Given the description of an element on the screen output the (x, y) to click on. 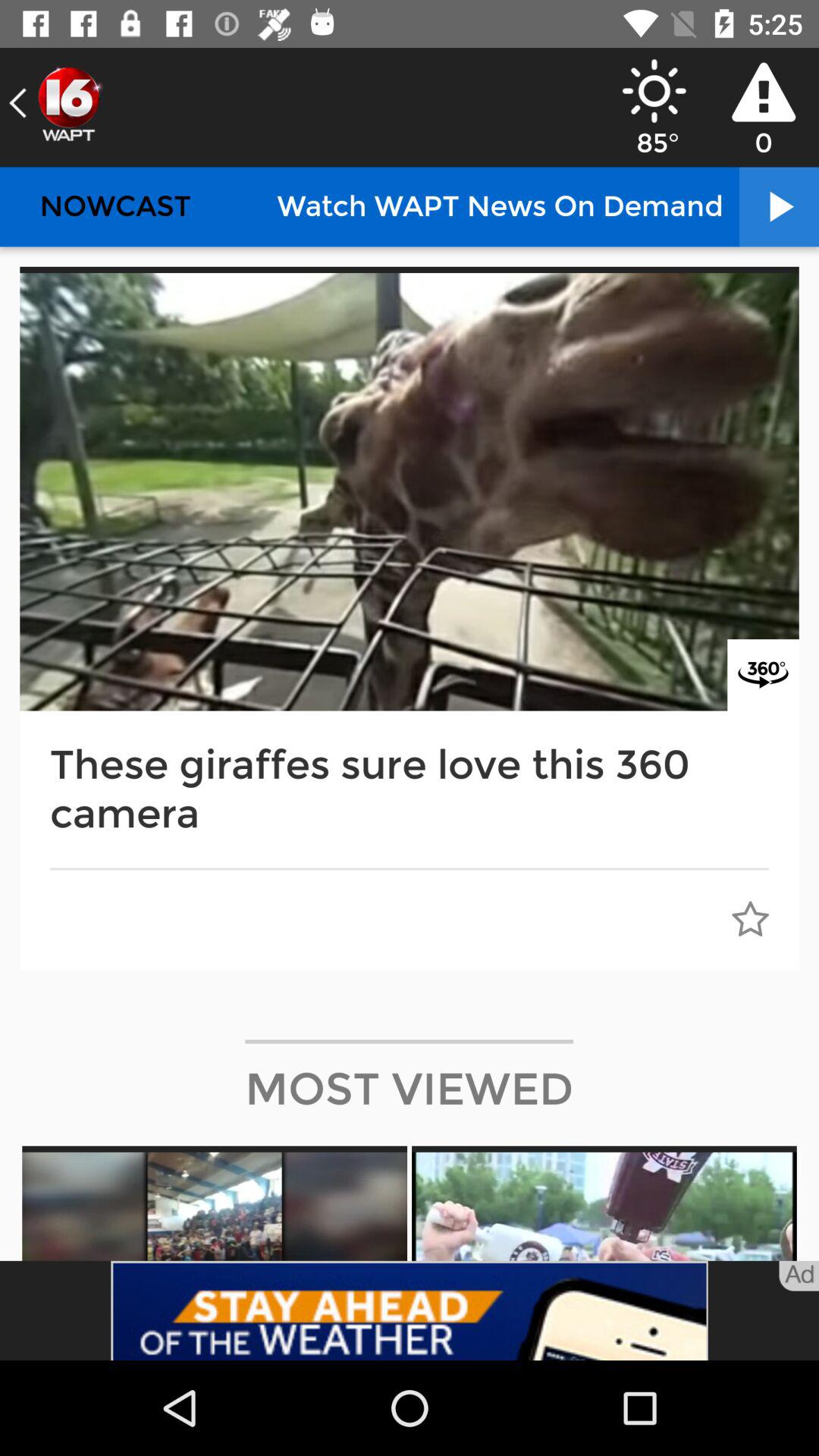
image 360 option (763, 674)
